Given the description of an element on the screen output the (x, y) to click on. 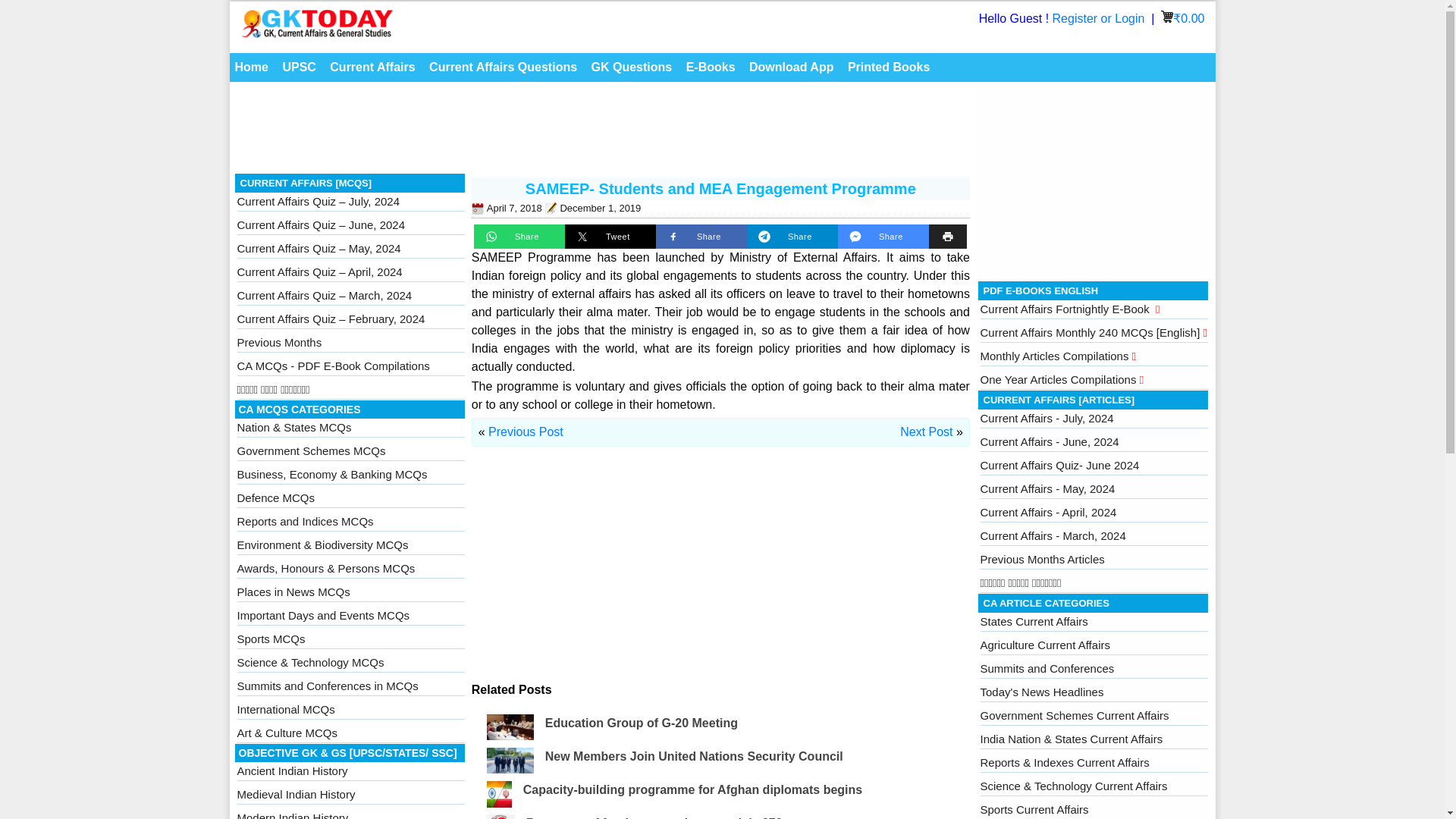
Download App (791, 67)
Next Post (925, 431)
Education Group of G-20 Meeting (641, 722)
New Members Join United Nations Security Council (693, 756)
CA MCQs - PDF E-Book Compilations (332, 365)
Printed Books (888, 67)
Home (250, 67)
Capacity-building programme for Afghan diplomats begins (691, 789)
Current Affairs Questions (502, 67)
Defence MCQs (274, 497)
Reports and Indices MCQs (303, 521)
E-Books (711, 67)
